Given the description of an element on the screen output the (x, y) to click on. 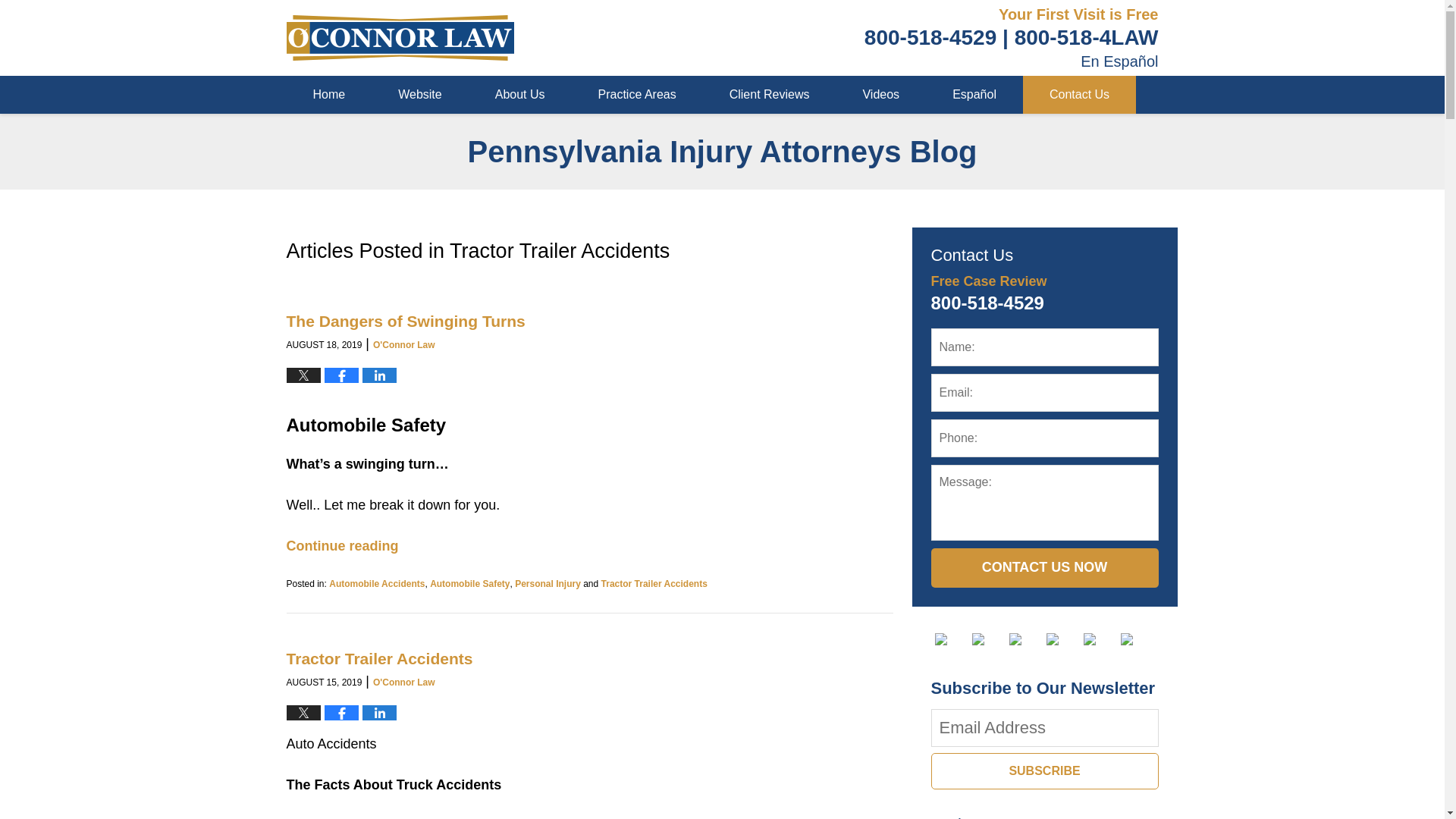
Automobile Safety (469, 583)
The Dangers of Swinging Turns (405, 321)
View all posts in Automobile Accidents (377, 583)
Continue Reading The Dangers of Swinging Turns (342, 545)
Permalink to The Dangers of Swinging Turns (405, 321)
Continue reading (342, 545)
Tractor Trailer Accidents (379, 658)
Contact Us (1079, 94)
Automobile Accidents (377, 583)
Pennsylvania Injury Attorneys Blog (399, 37)
